Given the description of an element on the screen output the (x, y) to click on. 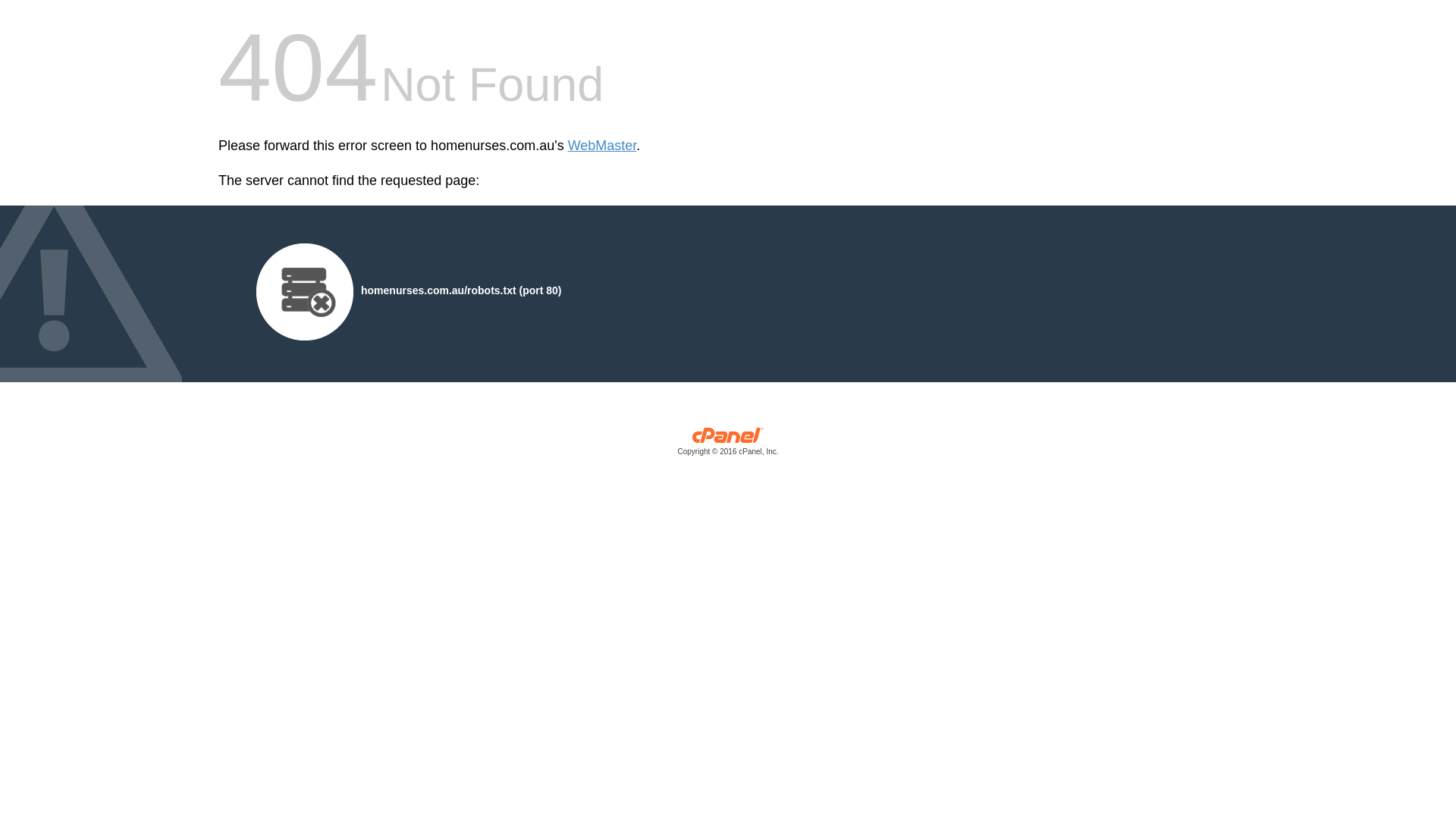
WebMaster Element type: text (602, 145)
